Given the description of an element on the screen output the (x, y) to click on. 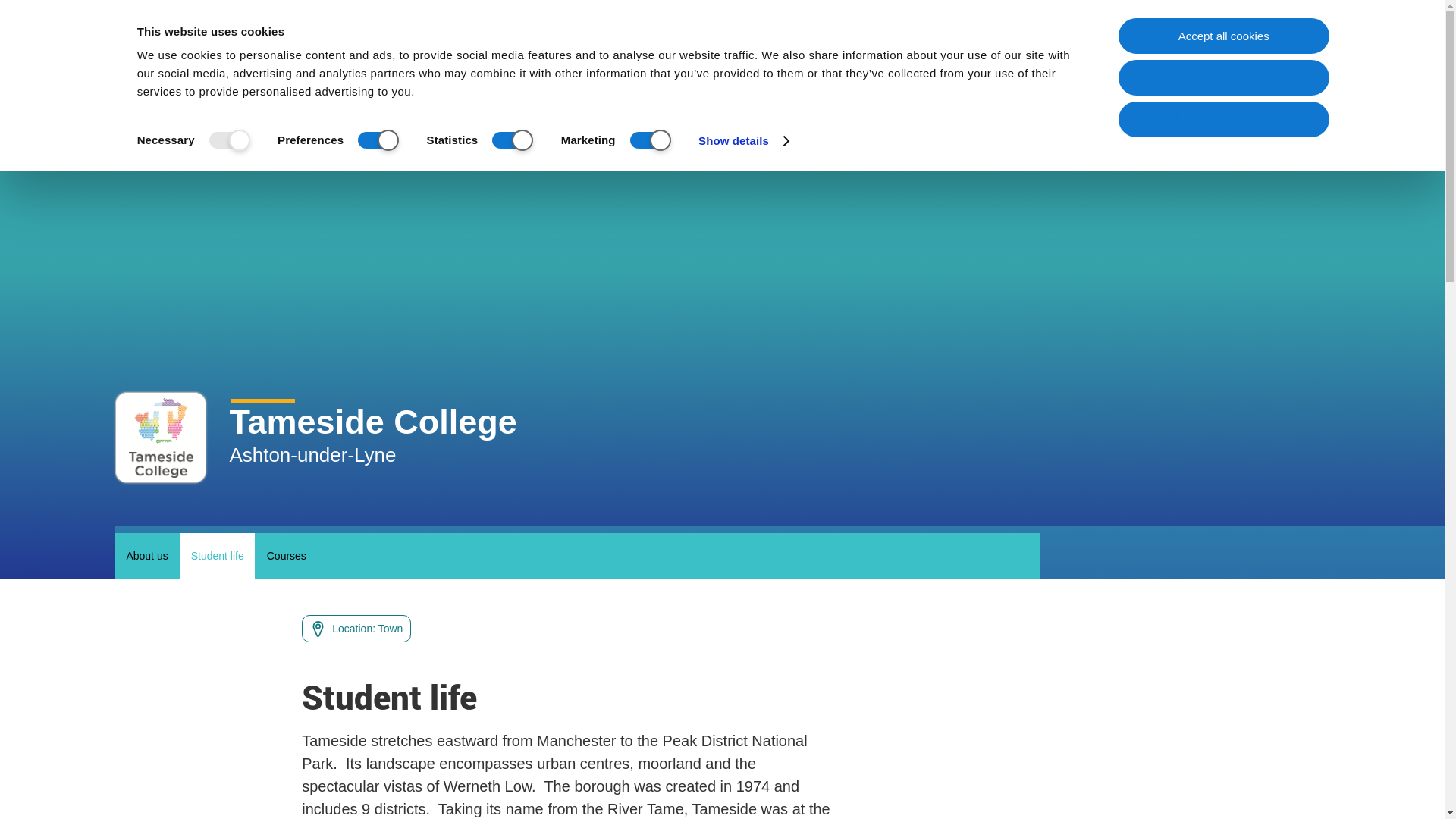
Show details (742, 140)
